Given the description of an element on the screen output the (x, y) to click on. 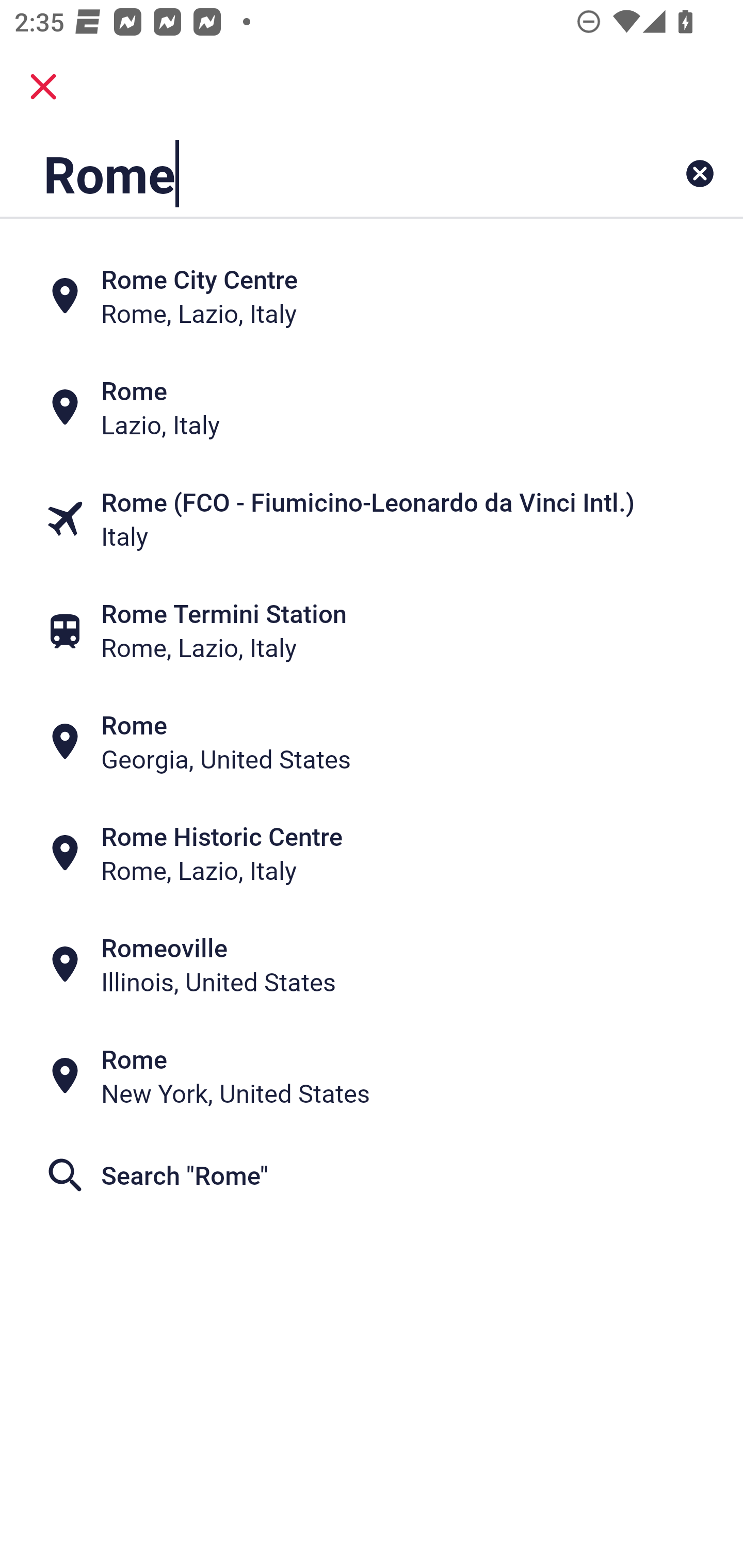
close. (43, 86)
Clear (699, 173)
Rome (306, 173)
Rome City Centre Rome, Lazio, Italy (371, 295)
Rome Lazio, Italy (371, 406)
Rome Termini Station Rome, Lazio, Italy (371, 629)
Rome Georgia, United States (371, 742)
Rome Historic Centre Rome, Lazio, Italy (371, 853)
Romeoville Illinois, United States (371, 964)
Rome New York, United States (371, 1076)
Search "Rome" (371, 1175)
